Given the description of an element on the screen output the (x, y) to click on. 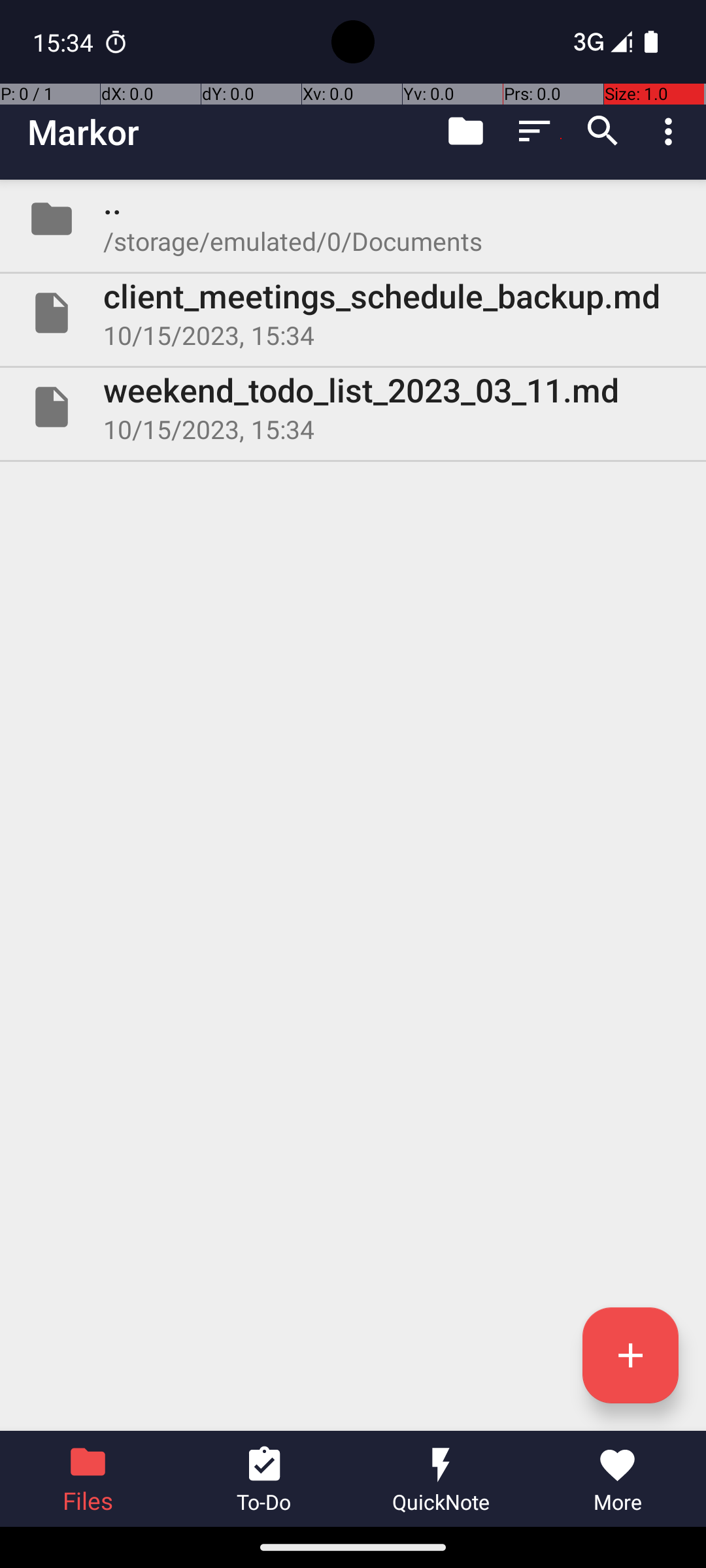
File client_meetings_schedule_backup.md  Element type: android.widget.LinearLayout (353, 312)
File weekend_todo_list_2023_03_11.md  Element type: android.widget.LinearLayout (353, 406)
